Given the description of an element on the screen output the (x, y) to click on. 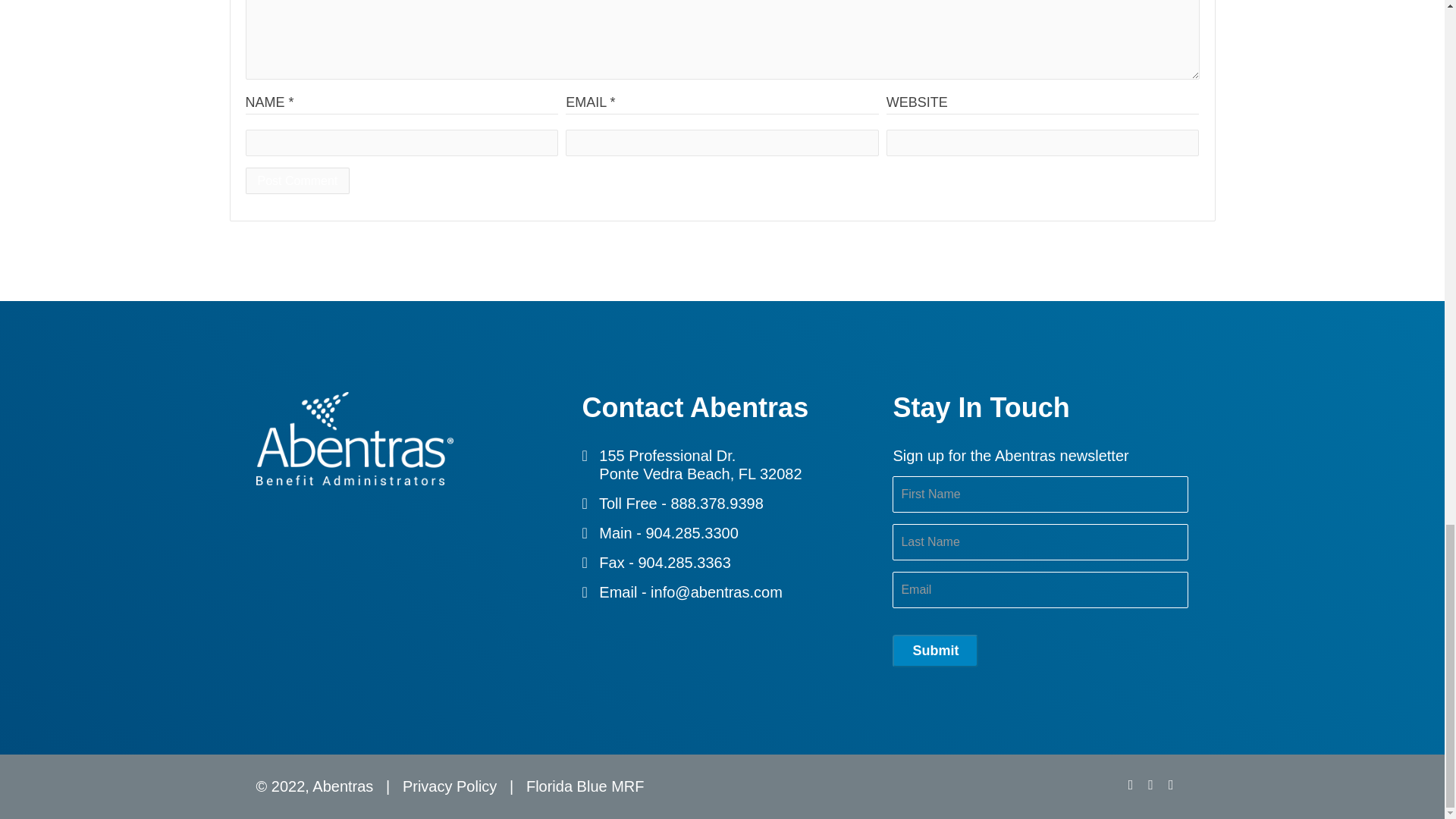
Submit (935, 650)
Submit (935, 650)
Privacy Policy (449, 788)
Florida Blue MRF (585, 788)
Post Comment (298, 180)
